Given the description of an element on the screen output the (x, y) to click on. 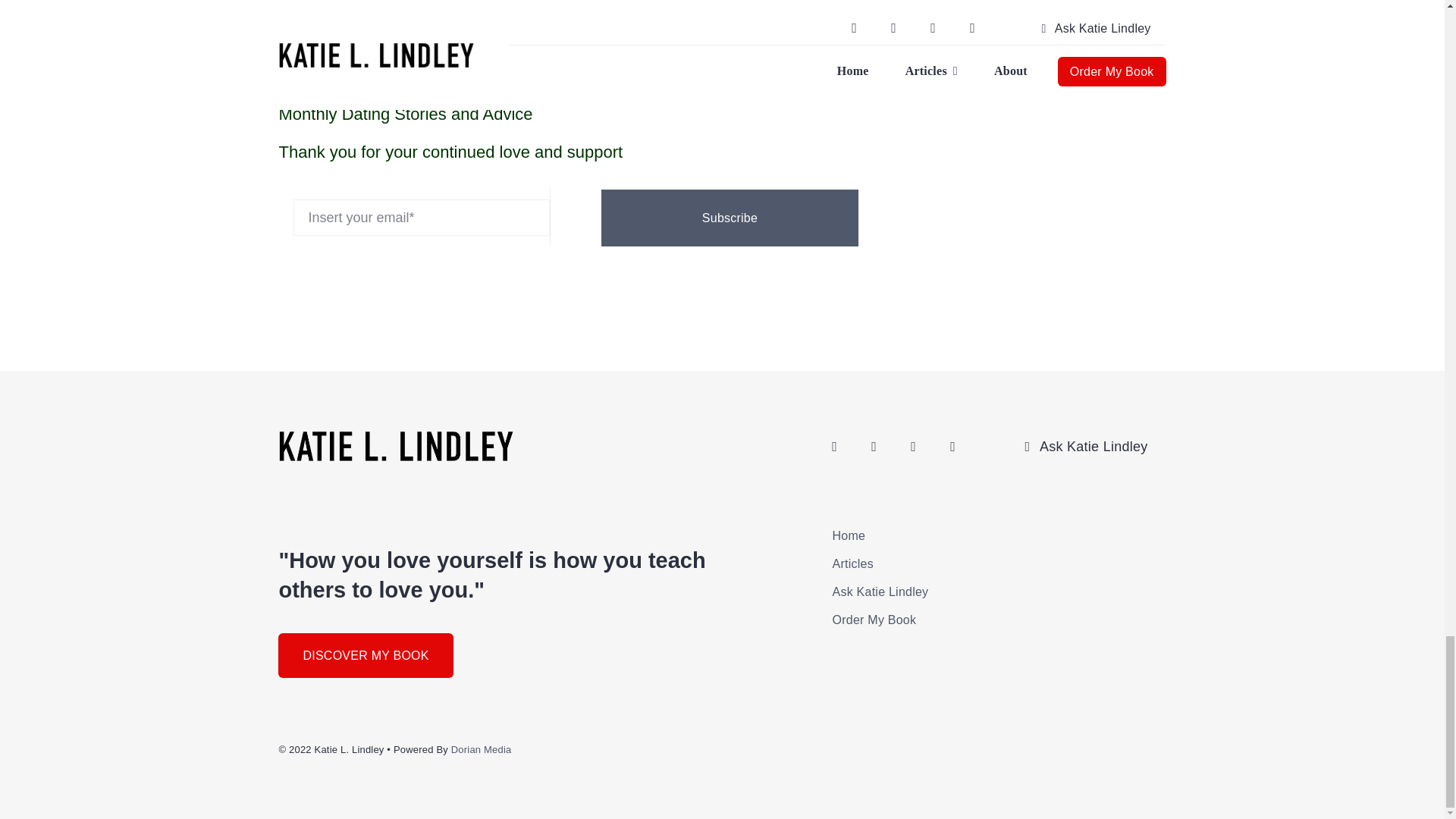
Subscribe (722, 218)
